Given the description of an element on the screen output the (x, y) to click on. 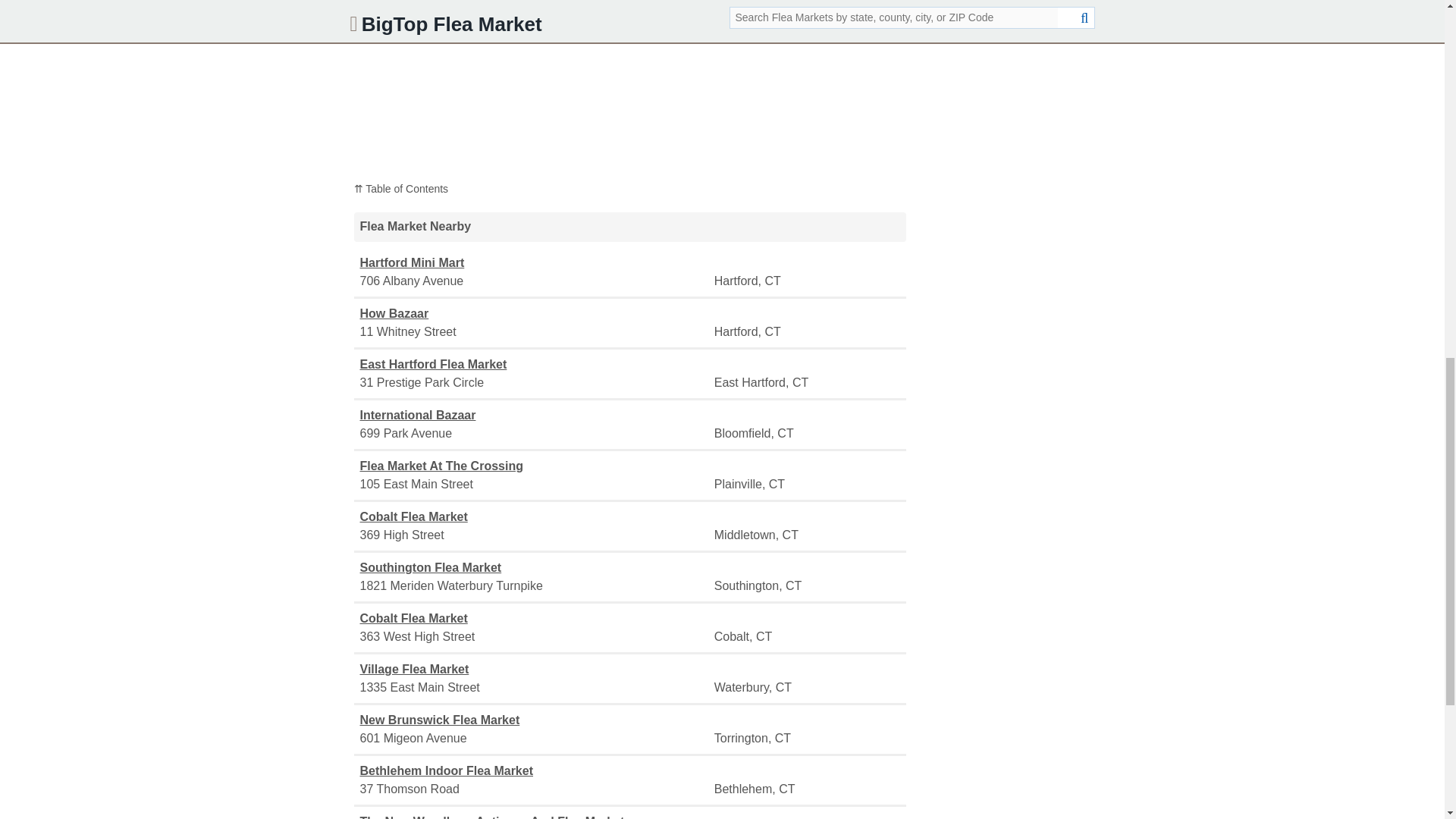
East Hartford Flea Market (534, 364)
Southington Flea Market (534, 567)
Village Flea Market (534, 669)
Hartford Mini Mart in Hartford, Connecticut (534, 262)
New Brunswick Flea Market in Torrington, Connecticut (534, 720)
International Bazaar (534, 415)
New Brunswick Flea Market (534, 720)
Cobalt Flea Market in Cobalt, Connecticut (534, 618)
Village Flea Market in Waterbury, Connecticut (534, 669)
